Given the description of an element on the screen output the (x, y) to click on. 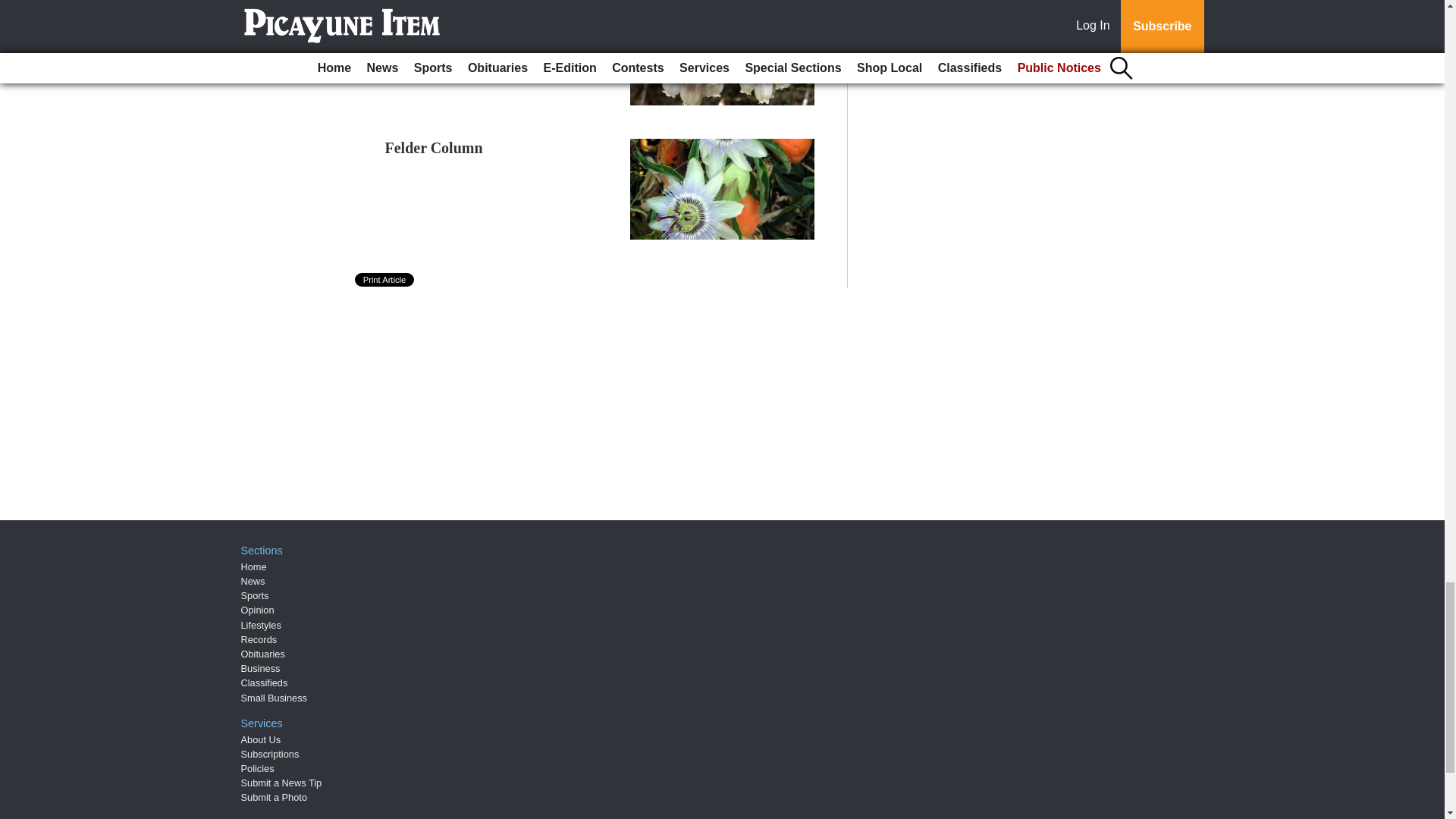
Home (253, 566)
Print Article (384, 279)
News (252, 581)
Sports (255, 595)
Felder Column (434, 147)
Felder Column (434, 147)
